Given the description of an element on the screen output the (x, y) to click on. 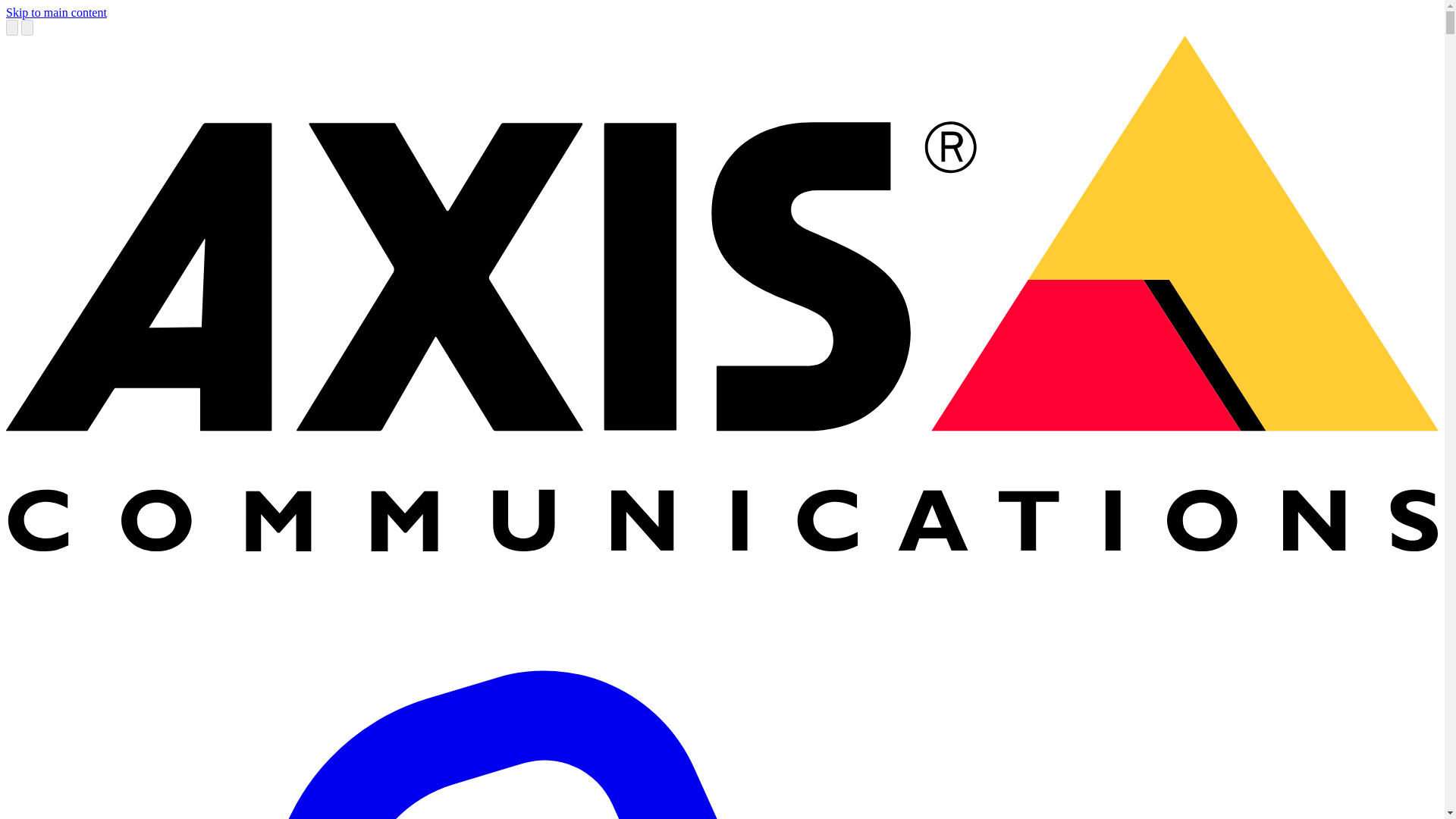
Skip to main content (55, 11)
